Given the description of an element on the screen output the (x, y) to click on. 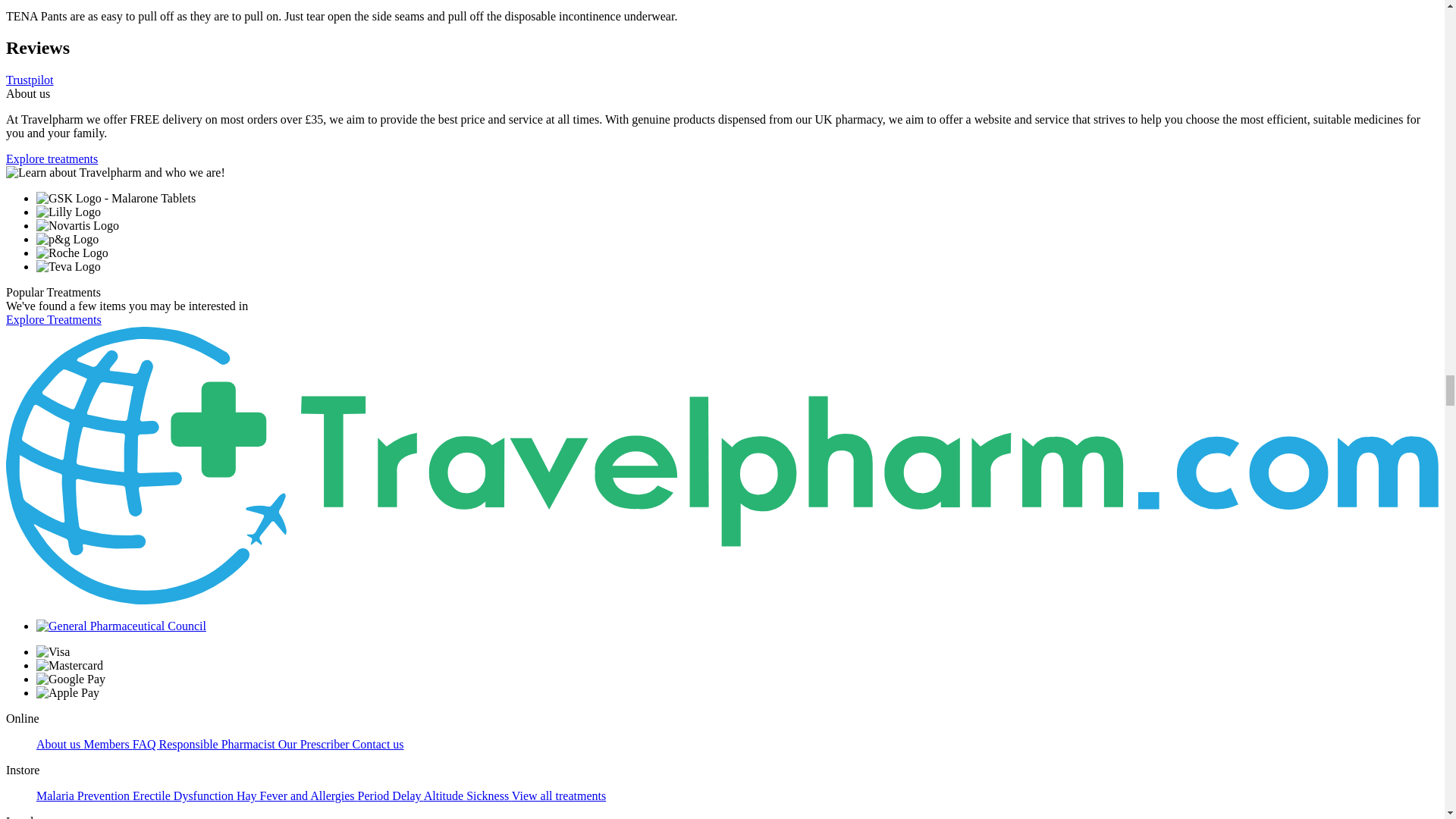
General Pharmaceutical Council (121, 625)
About us (59, 744)
Explore treatments (51, 158)
Malaria Prevention (84, 795)
Erectile Dysfunction (183, 795)
Members (107, 744)
Responsible Pharmacist (218, 744)
Trustpilot (29, 79)
Explore Treatments (53, 318)
FAQ (145, 744)
Our Prescriber (315, 744)
Contact us (378, 744)
